Given the description of an element on the screen output the (x, y) to click on. 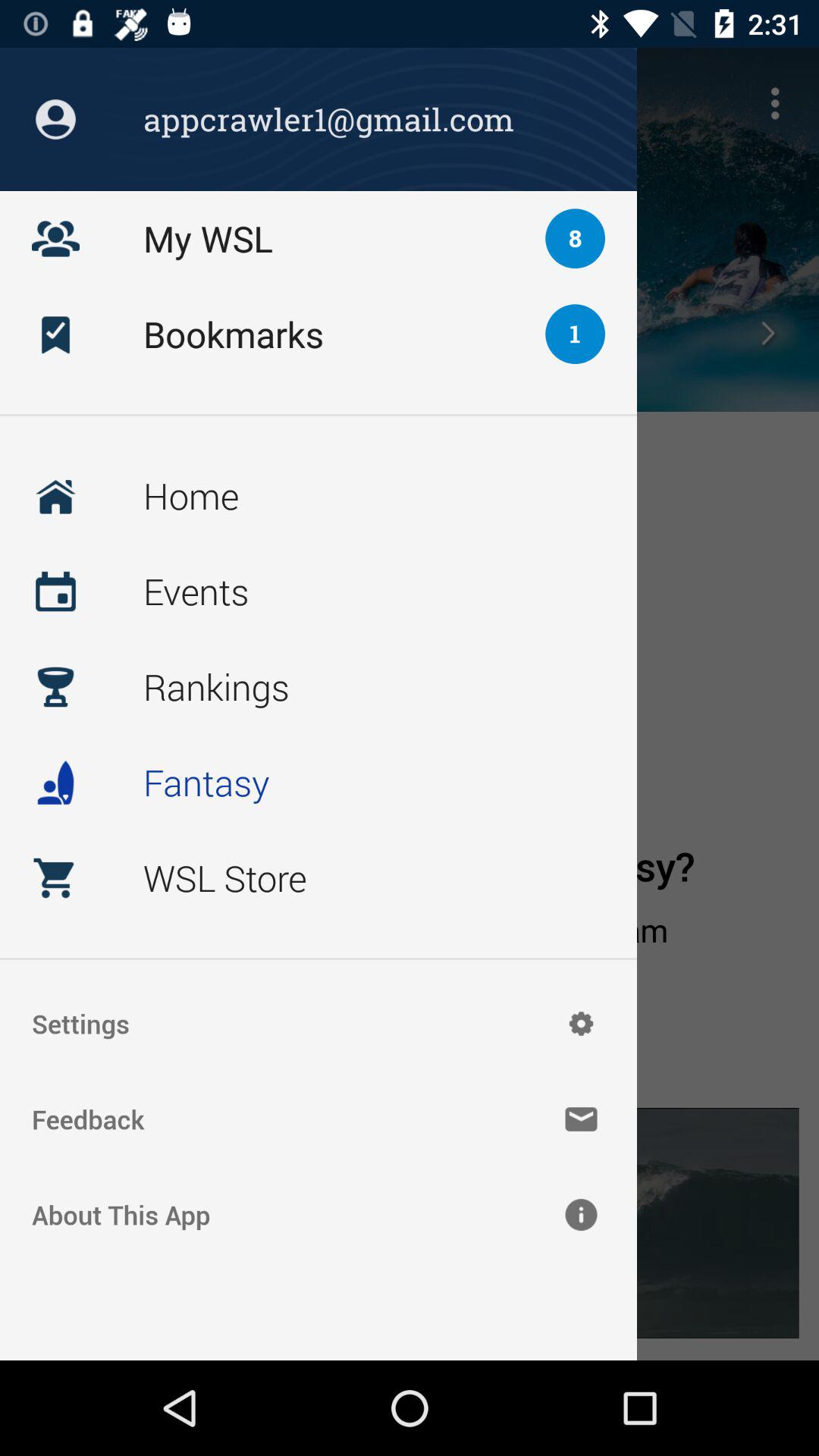
go to the user icon (55, 119)
